Given the description of an element on the screen output the (x, y) to click on. 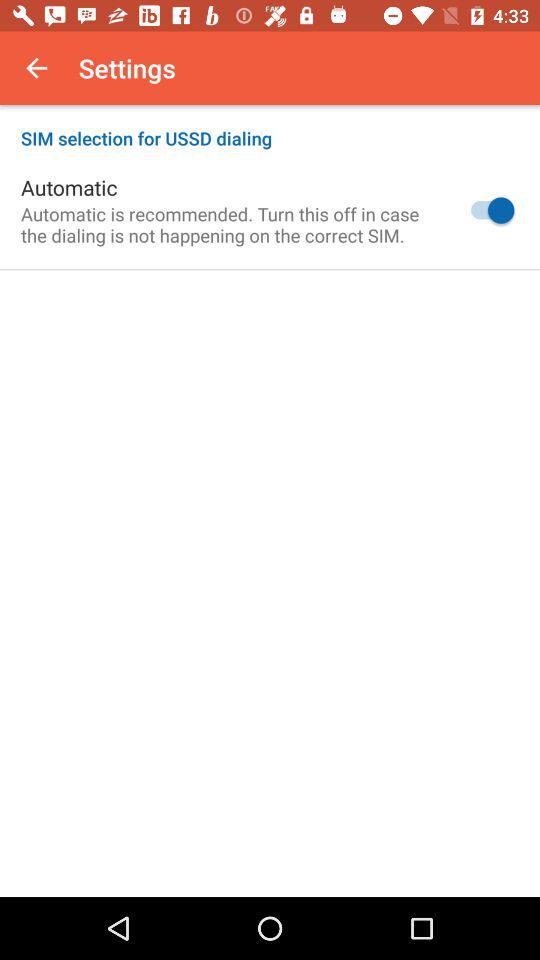
press app next to settings (36, 68)
